Given the description of an element on the screen output the (x, y) to click on. 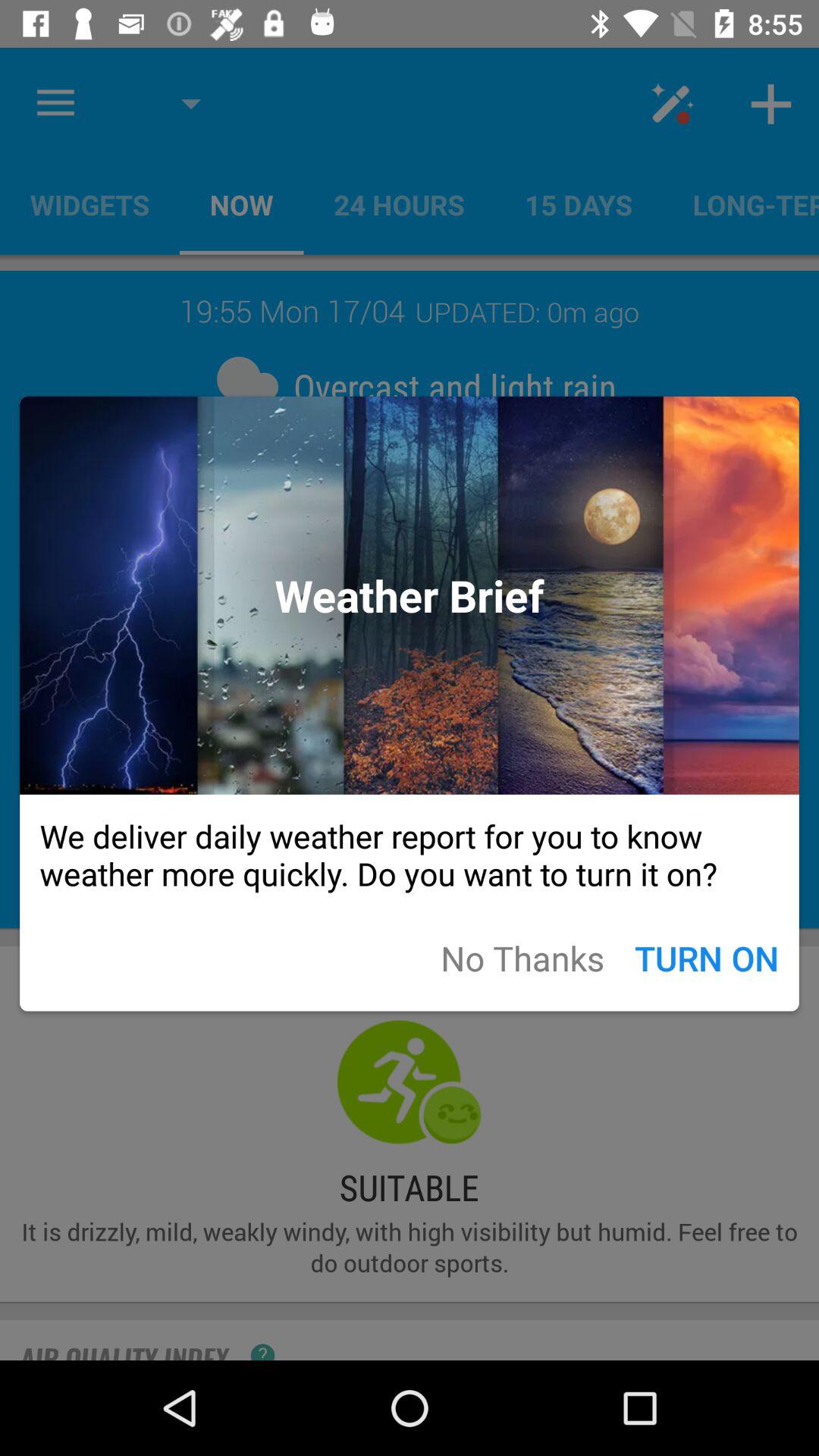
open no thanks icon (522, 958)
